Given the description of an element on the screen output the (x, y) to click on. 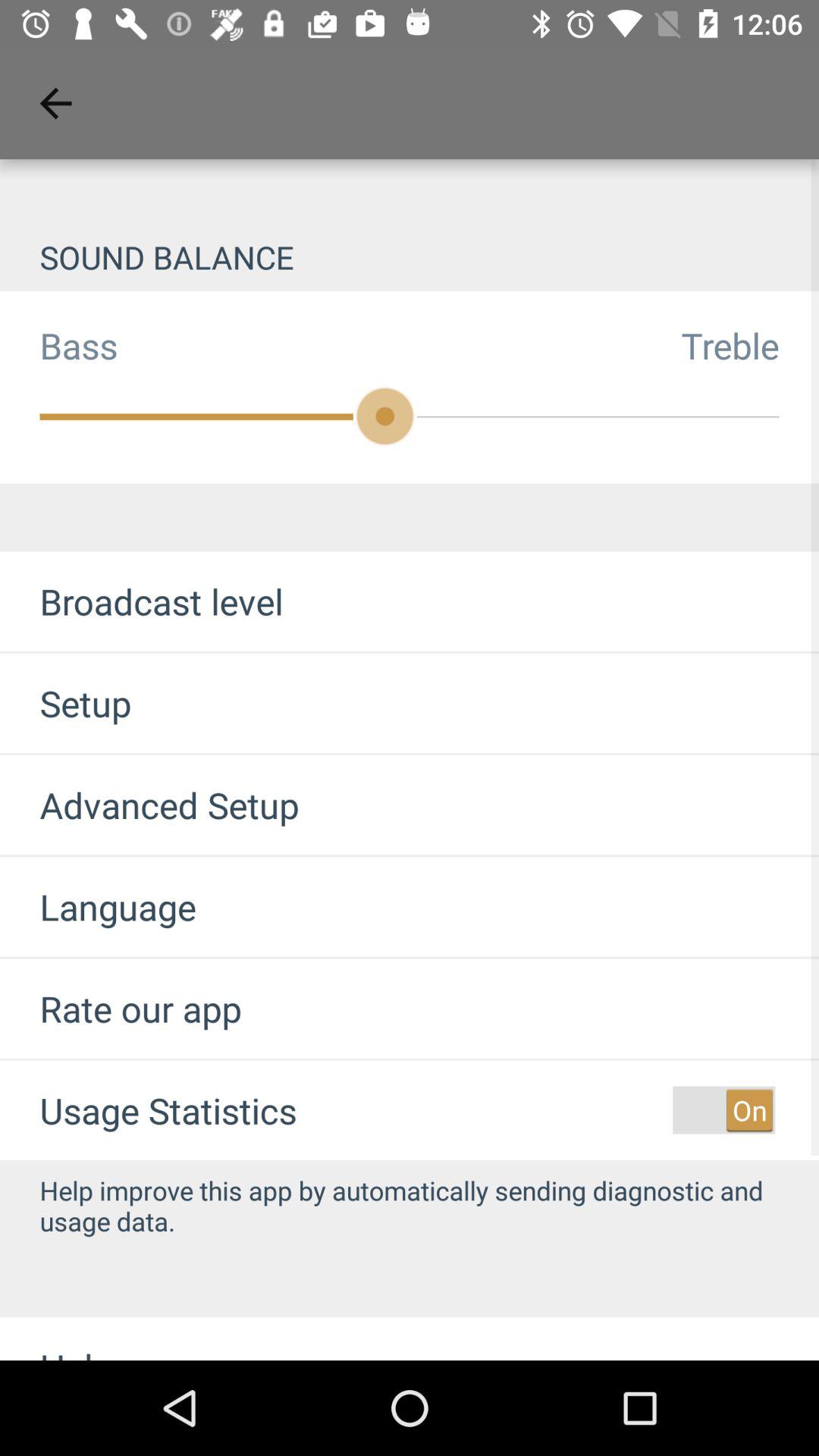
open the item below the language item (120, 1008)
